Given the description of an element on the screen output the (x, y) to click on. 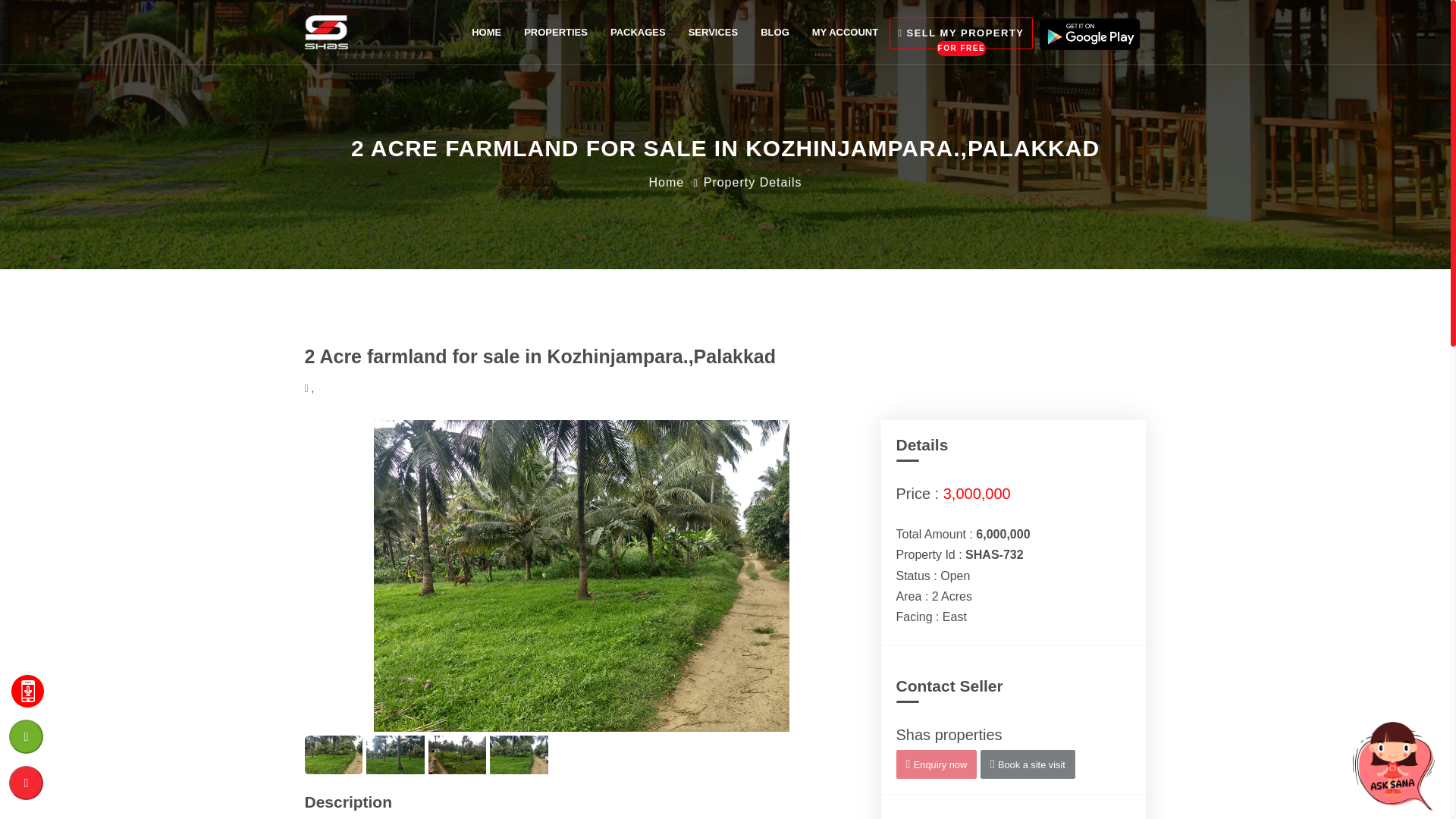
SERVICES (713, 31)
PACKAGES (637, 31)
PROPERTIES (960, 32)
Home (555, 31)
MY ACCOUNT (665, 182)
Book a site visit (844, 31)
Enquiry now (1027, 764)
